Given the description of an element on the screen output the (x, y) to click on. 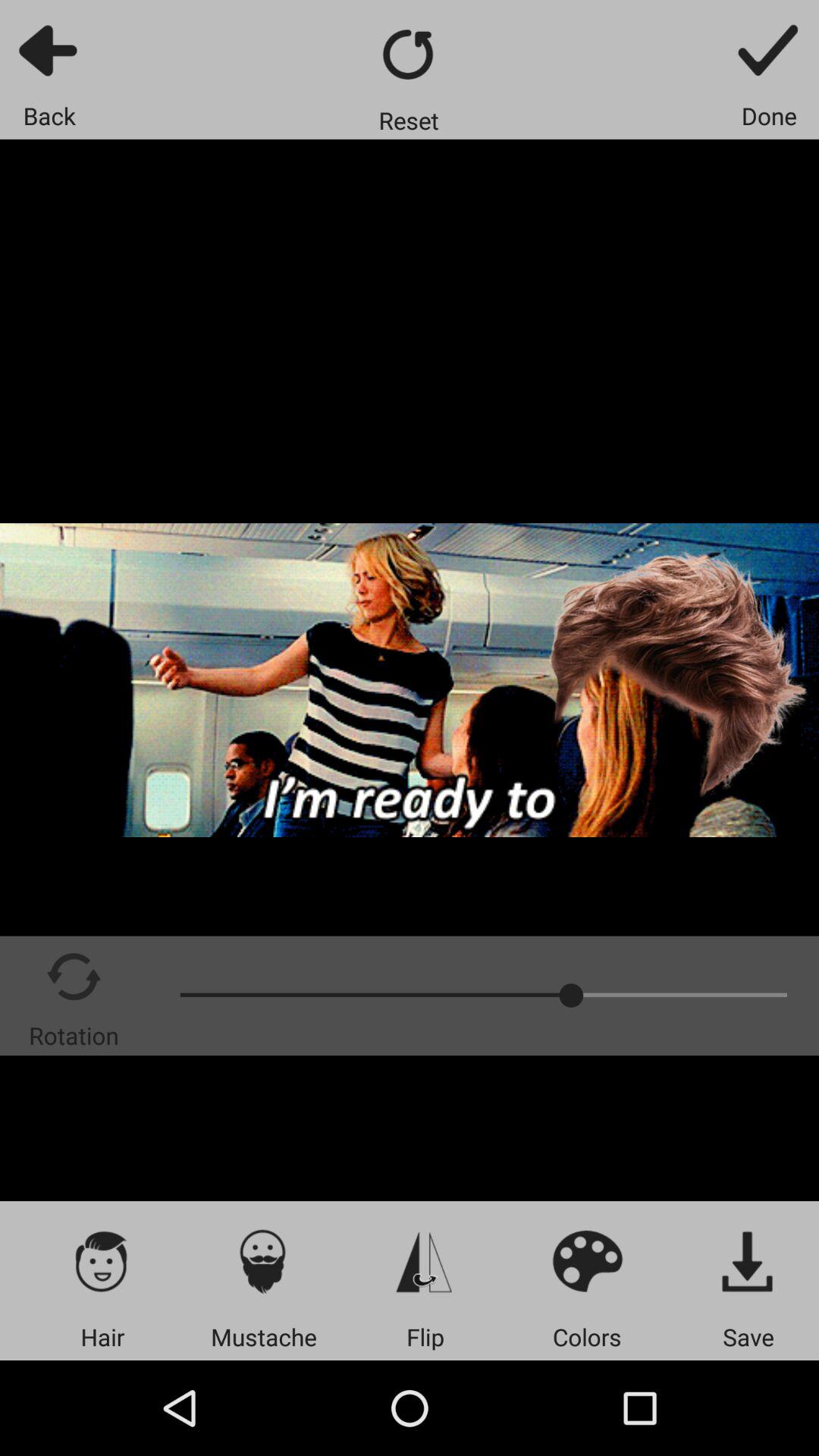
restart the video (408, 54)
